Given the description of an element on the screen output the (x, y) to click on. 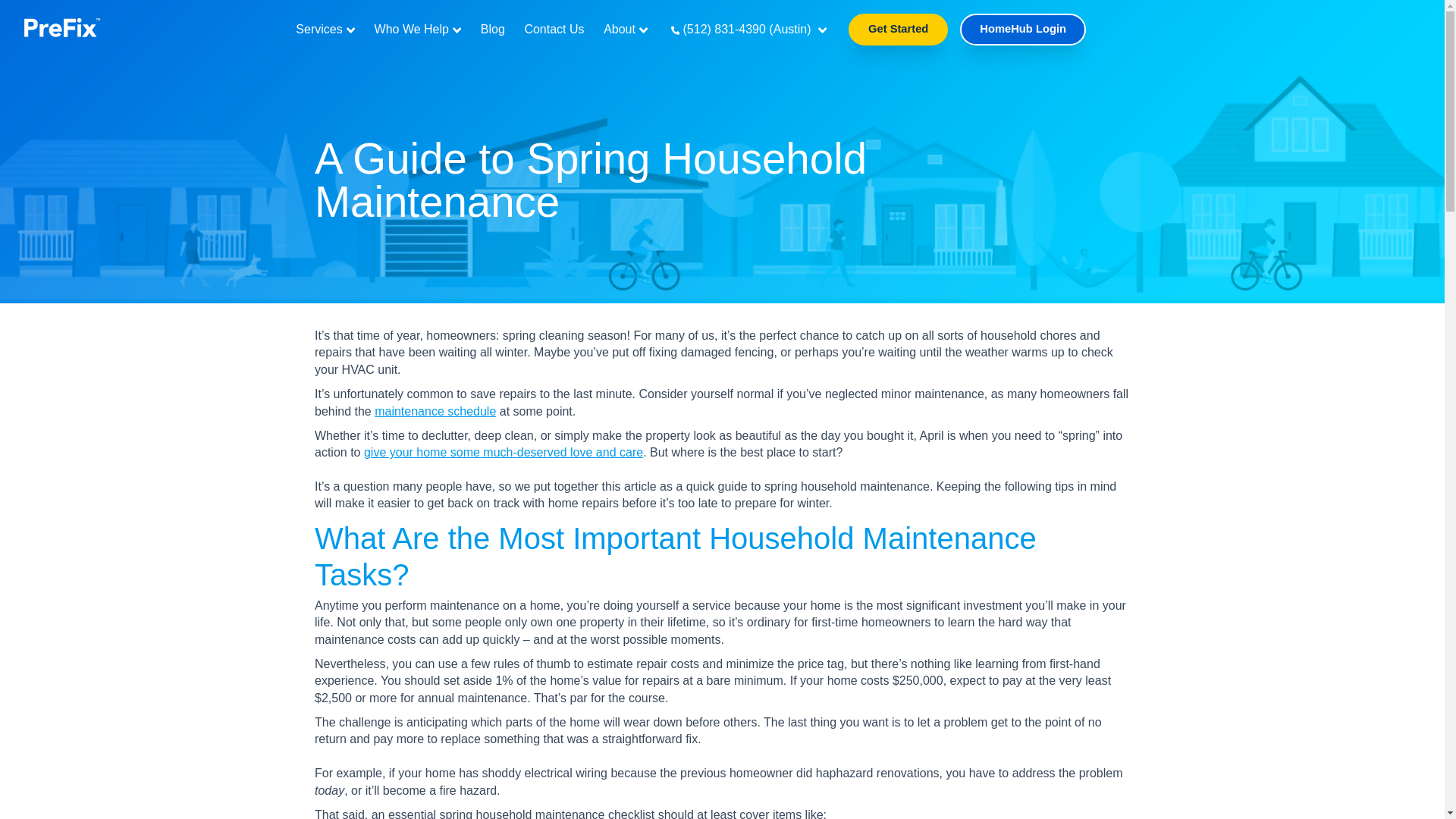
Contact Us (553, 29)
maintenance schedule (435, 410)
Get Started (897, 29)
About (625, 29)
Services (325, 29)
Blog (492, 29)
give your home some much-deserved love and care (503, 451)
HomeHub Login (1022, 29)
Who We Help (417, 29)
